Given the description of an element on the screen output the (x, y) to click on. 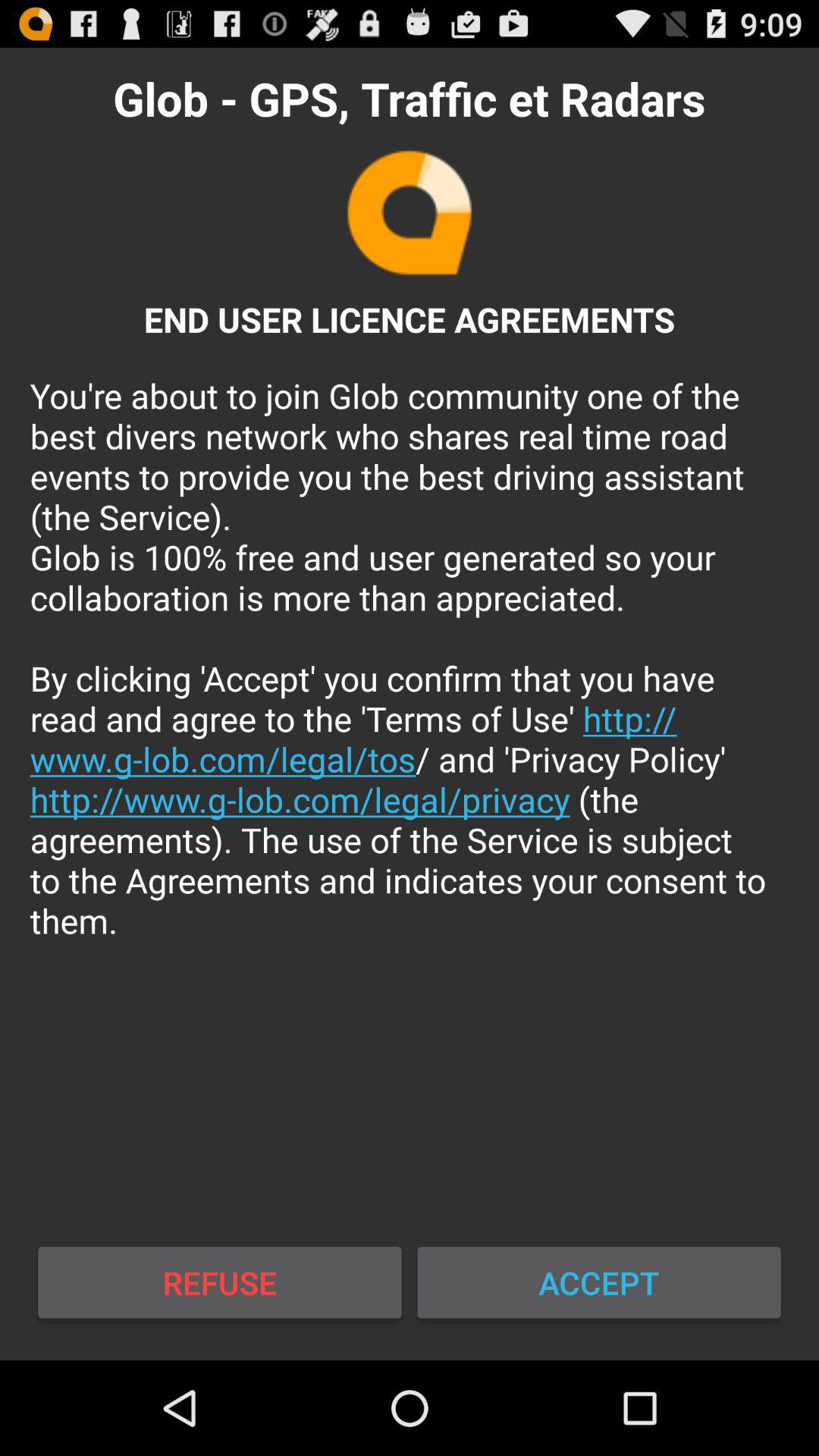
turn off the accept icon (598, 1282)
